Given the description of an element on the screen output the (x, y) to click on. 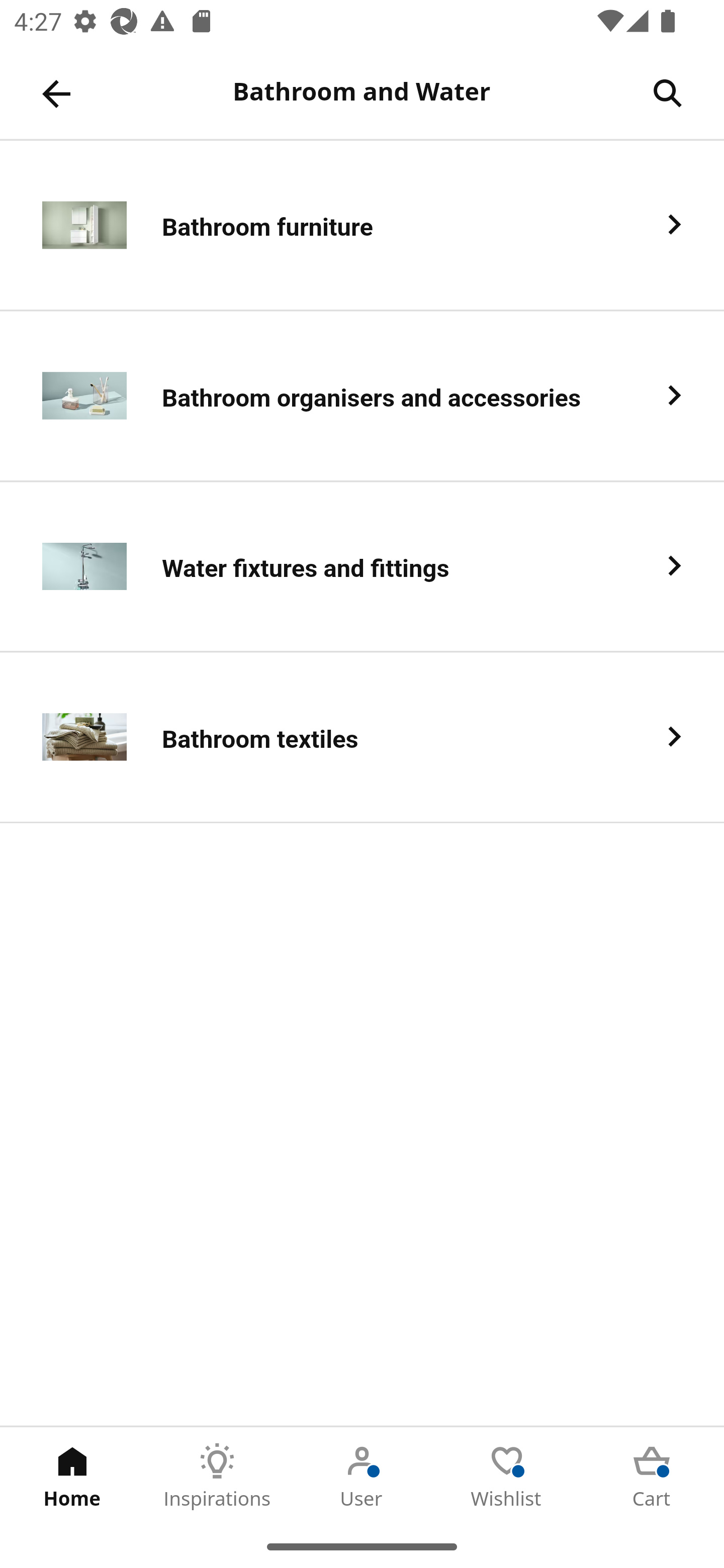
Bathroom furniture (362, 226)
Bathroom organisers and accessories (362, 396)
Water fixtures and fittings (362, 566)
Bathroom textiles (362, 737)
Home
Tab 1 of 5 (72, 1476)
Inspirations
Tab 2 of 5 (216, 1476)
User
Tab 3 of 5 (361, 1476)
Wishlist
Tab 4 of 5 (506, 1476)
Cart
Tab 5 of 5 (651, 1476)
